Given the description of an element on the screen output the (x, y) to click on. 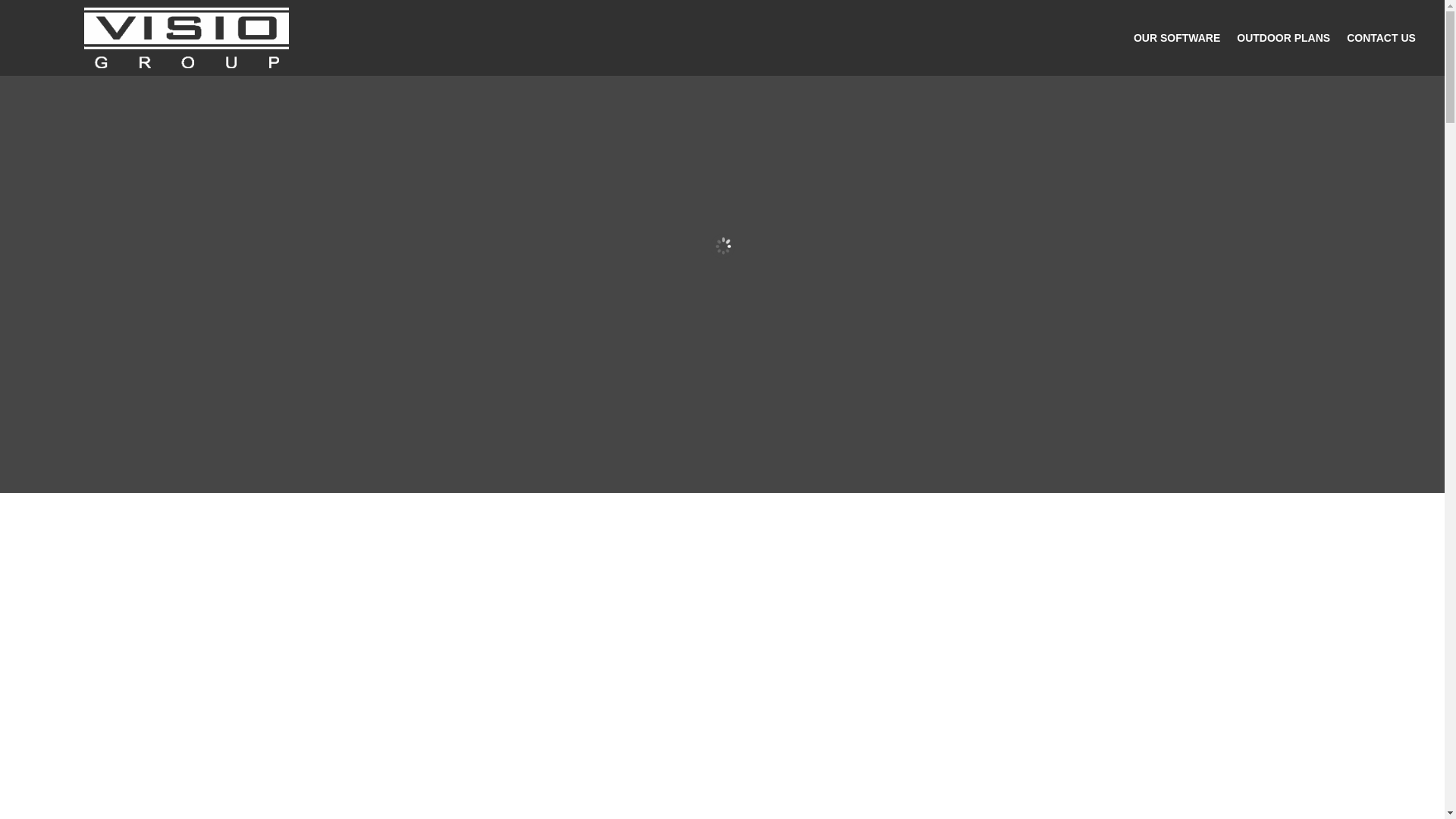
CONTACT US (1380, 40)
cropped-vglogo.png (186, 37)
OUR SOFTWARE (1177, 40)
OUTDOOR PLANS (1283, 40)
